Given the description of an element on the screen output the (x, y) to click on. 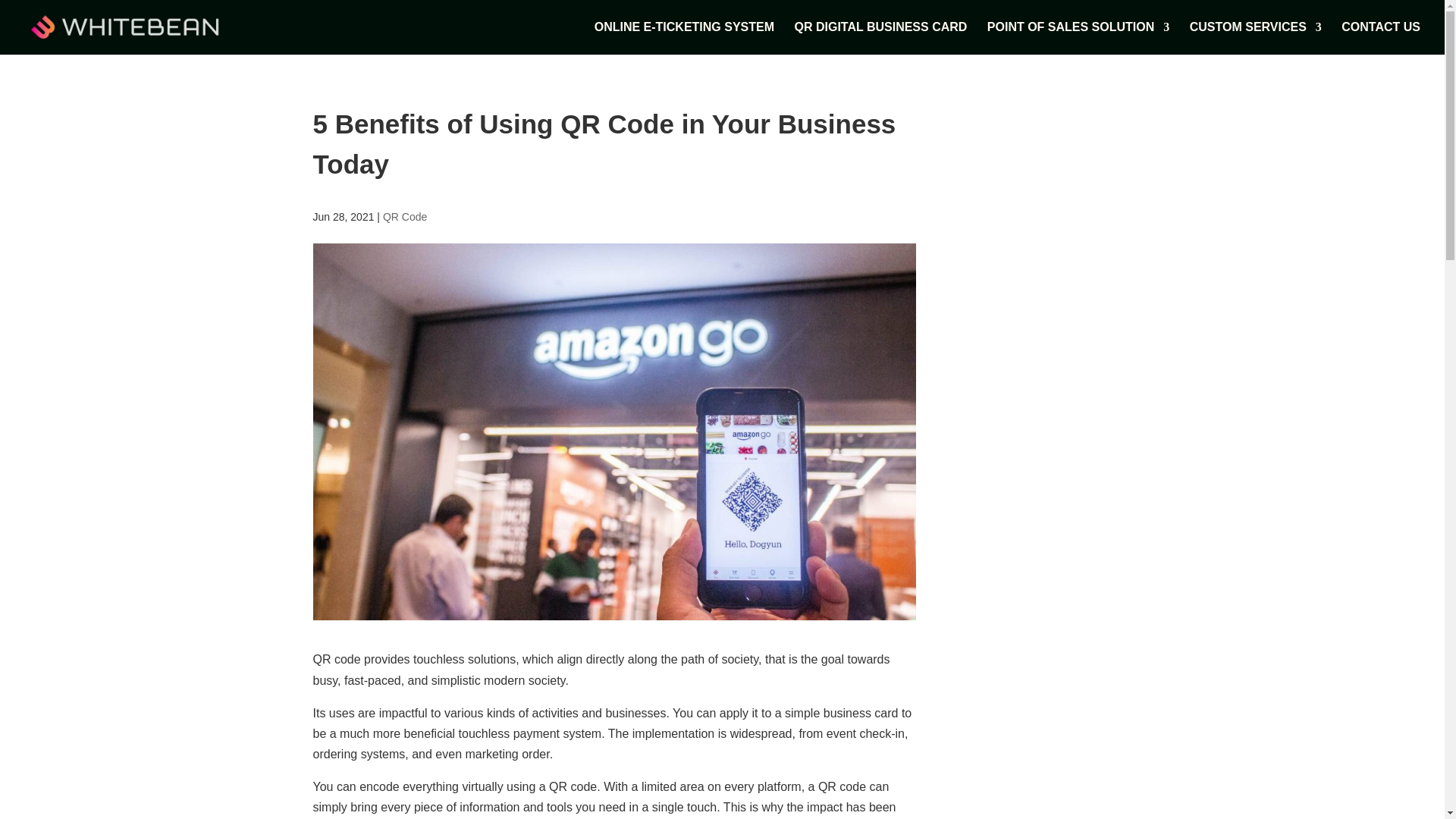
ONLINE E-TICKETING SYSTEM (684, 38)
QR Code (404, 216)
CUSTOM SERVICES (1255, 38)
CONTACT US (1380, 38)
QR DIGITAL BUSINESS CARD (881, 38)
POINT OF SALES SOLUTION (1078, 38)
